Given the description of an element on the screen output the (x, y) to click on. 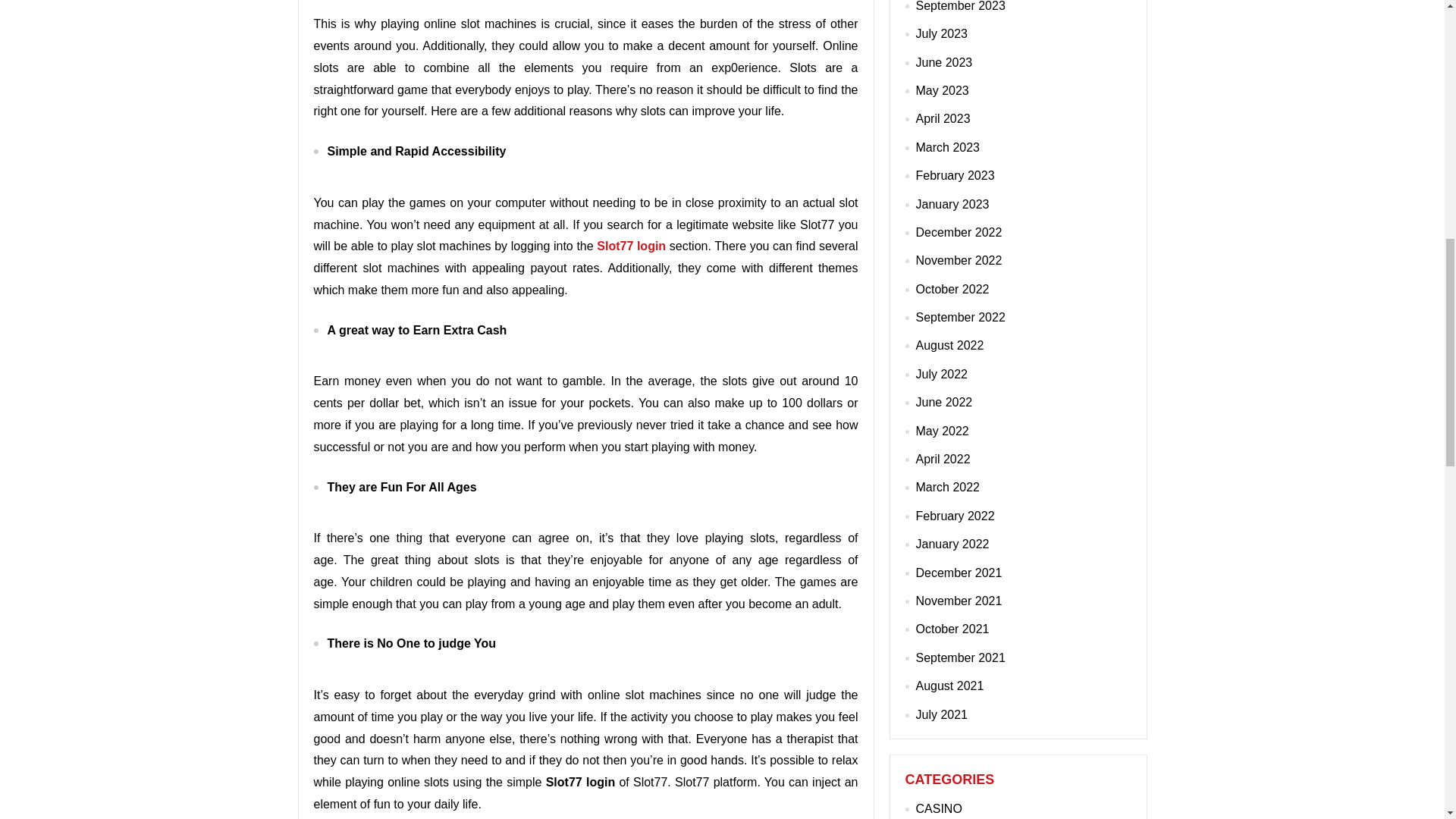
Slot77 login (630, 245)
